Given the description of an element on the screen output the (x, y) to click on. 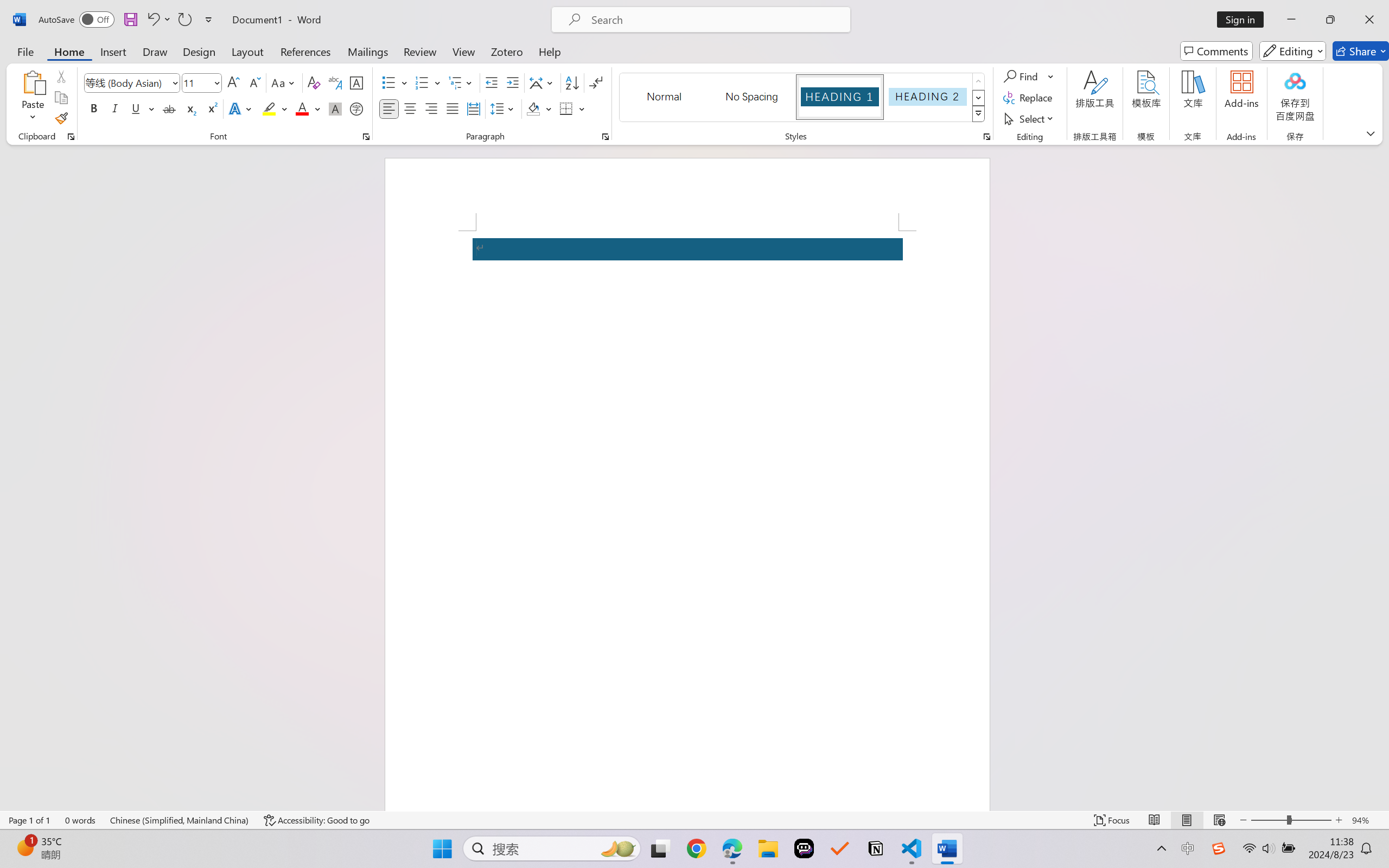
Repeat Accessibility Checker (184, 19)
